Given the description of an element on the screen output the (x, y) to click on. 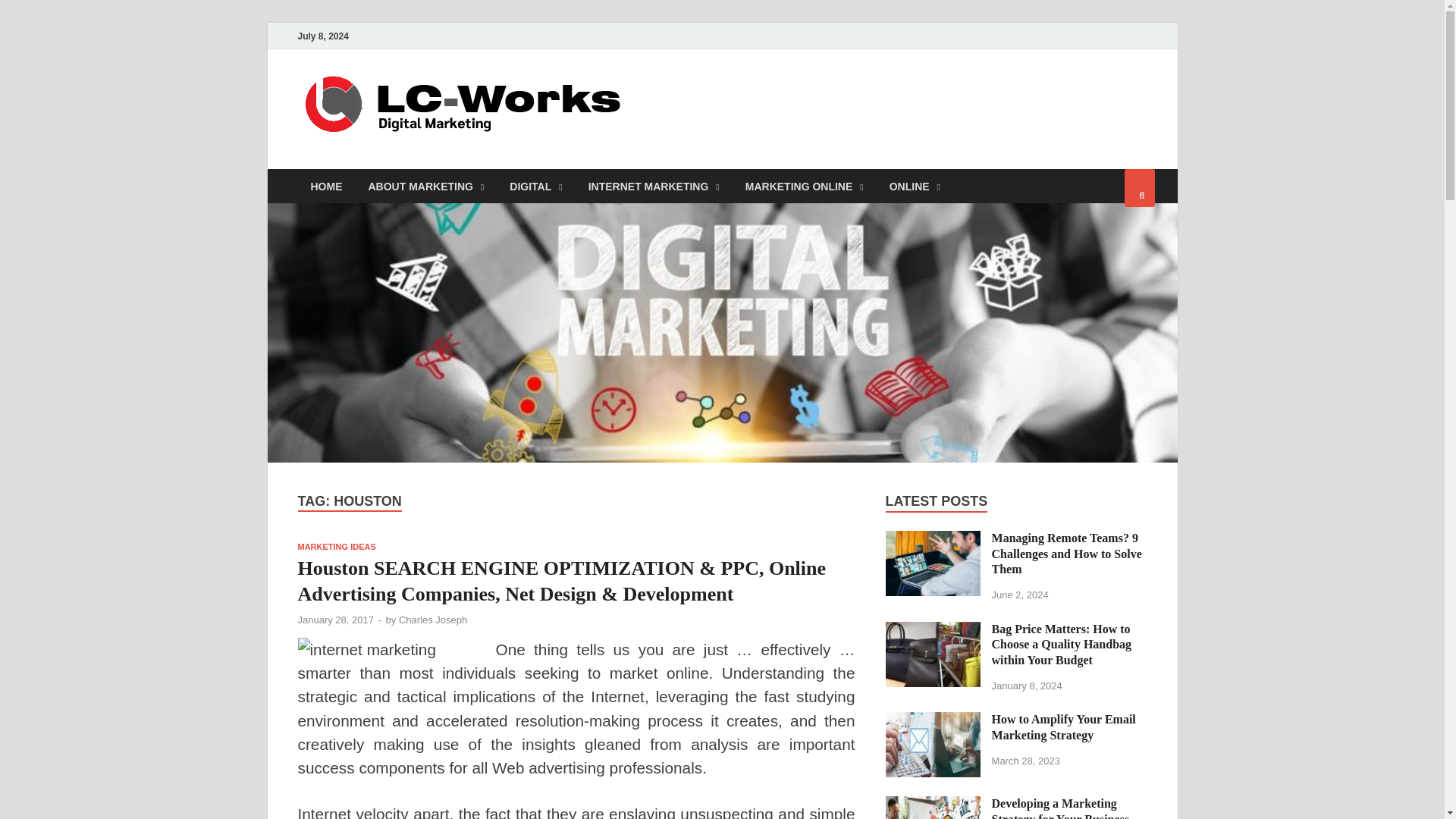
leathercustomwork.com (796, 100)
INTERNET MARKETING (653, 185)
Developing a Marketing Strategy for Your Business Plan (932, 804)
ABOUT MARKETING (425, 185)
DIGITAL (535, 185)
Managing Remote Teams? 9 Challenges and How to Solve Them (932, 539)
ONLINE (914, 185)
How to Amplify Your Email Marketing Strategy (932, 720)
MARKETING ONLINE (804, 185)
HOME (326, 185)
